Given the description of an element on the screen output the (x, y) to click on. 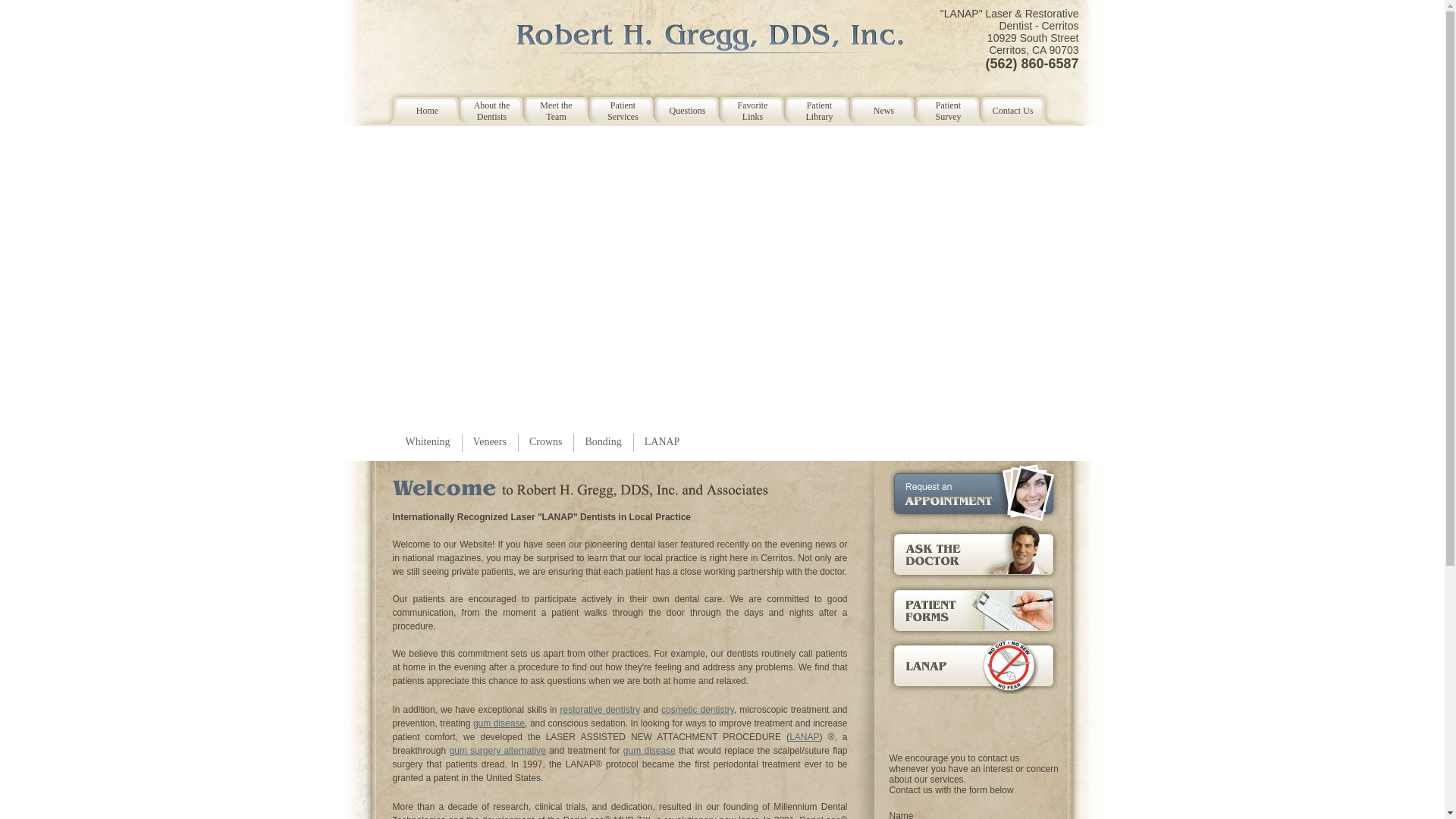
Veneers Element type: text (489, 442)
Contact Us Element type: text (1004, 102)
Meet the Team Element type: text (547, 105)
Favorite Links Element type: text (743, 105)
News Element type: text (875, 102)
restorative dentistry Element type: text (600, 709)
Questions Element type: text (678, 102)
About the Dentists Element type: text (482, 105)
cosmetic dentistry Element type: text (697, 709)
LANAP Element type: text (804, 736)
Patient Library Element type: text (809, 105)
Patient Services Element type: text (612, 105)
Whitening Element type: text (427, 442)
Home Element type: text (426, 102)
gum disease Element type: text (649, 750)
Bonding Element type: text (602, 442)
Crowns Element type: text (545, 442)
Patient Survey Element type: text (938, 105)
gum disease Element type: text (498, 723)
gum surgery alternative Element type: text (497, 750)
LANAP Element type: text (661, 442)
